Given the description of an element on the screen output the (x, y) to click on. 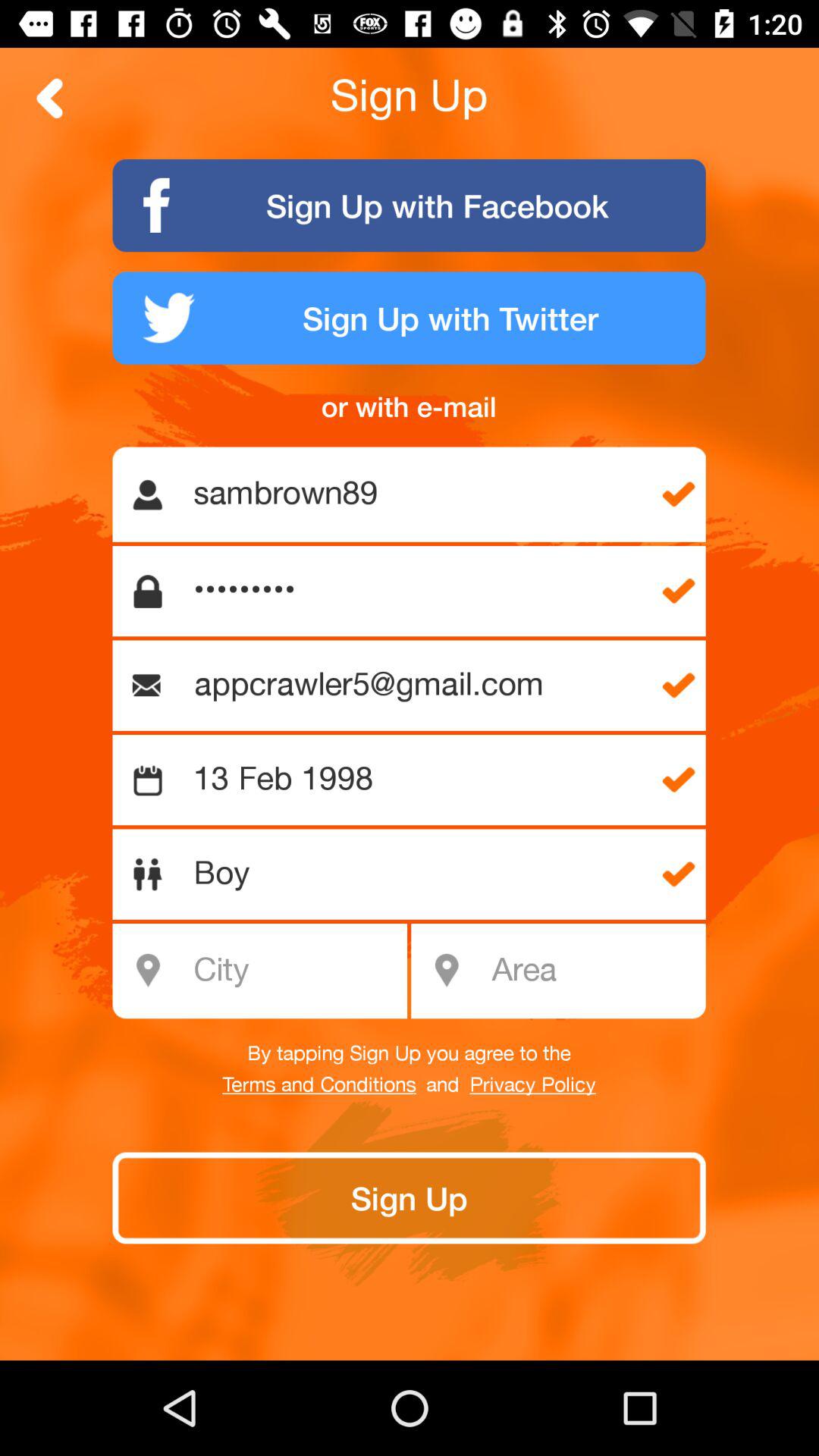
jump until the appcrawler5@gmail.com item (416, 685)
